Given the description of an element on the screen output the (x, y) to click on. 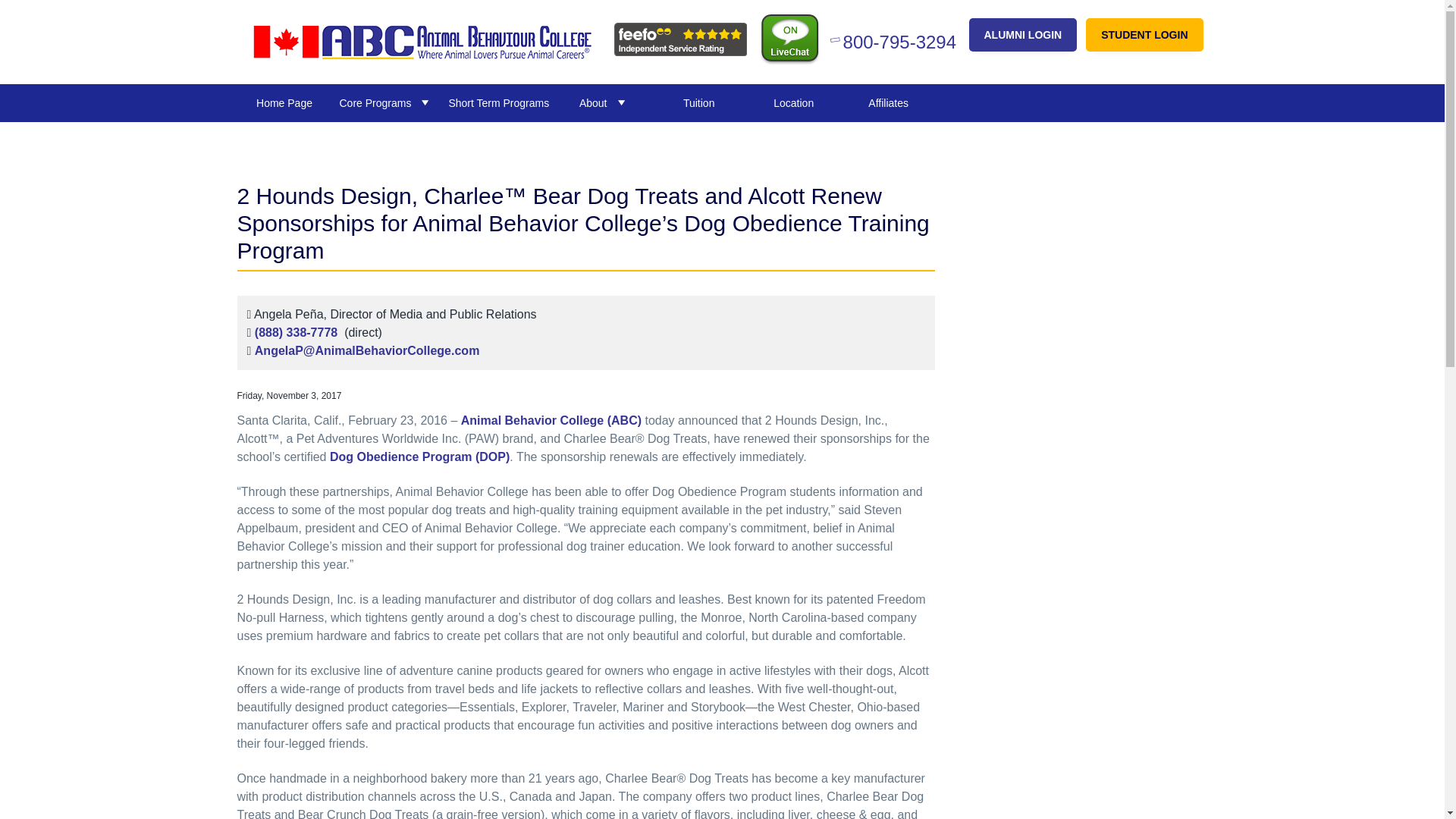
Animal Behaviour College (331, 72)
Core Programs (386, 103)
STUDENT LOGIN (1144, 34)
Tuition (697, 103)
Short Term Programs (498, 103)
800-795-3294 (894, 41)
About (603, 103)
ALUMNI LOGIN (1023, 34)
Home Page (283, 103)
See what our customers say about us (680, 39)
